Given the description of an element on the screen output the (x, y) to click on. 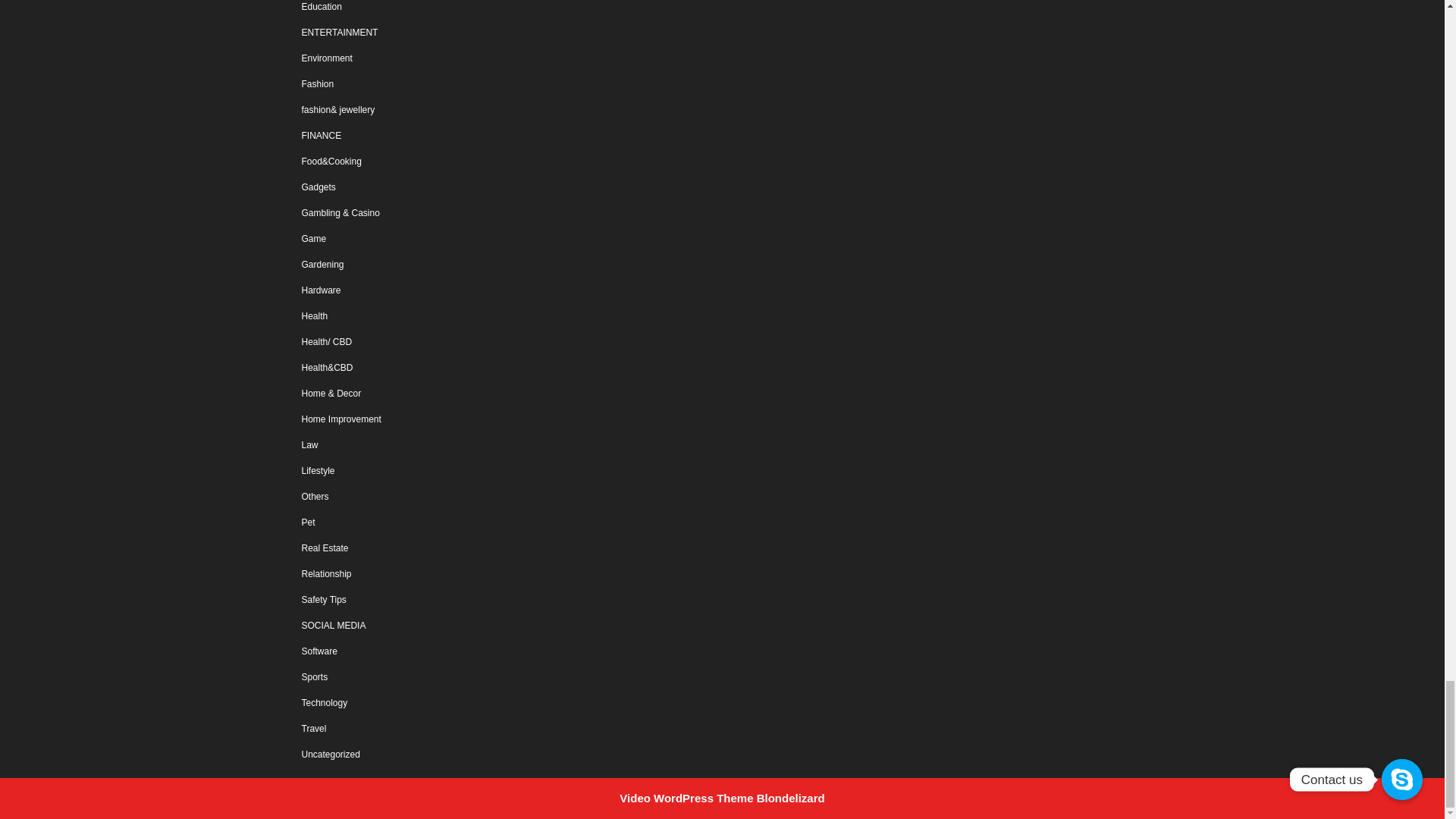
others (315, 496)
